Given the description of an element on the screen output the (x, y) to click on. 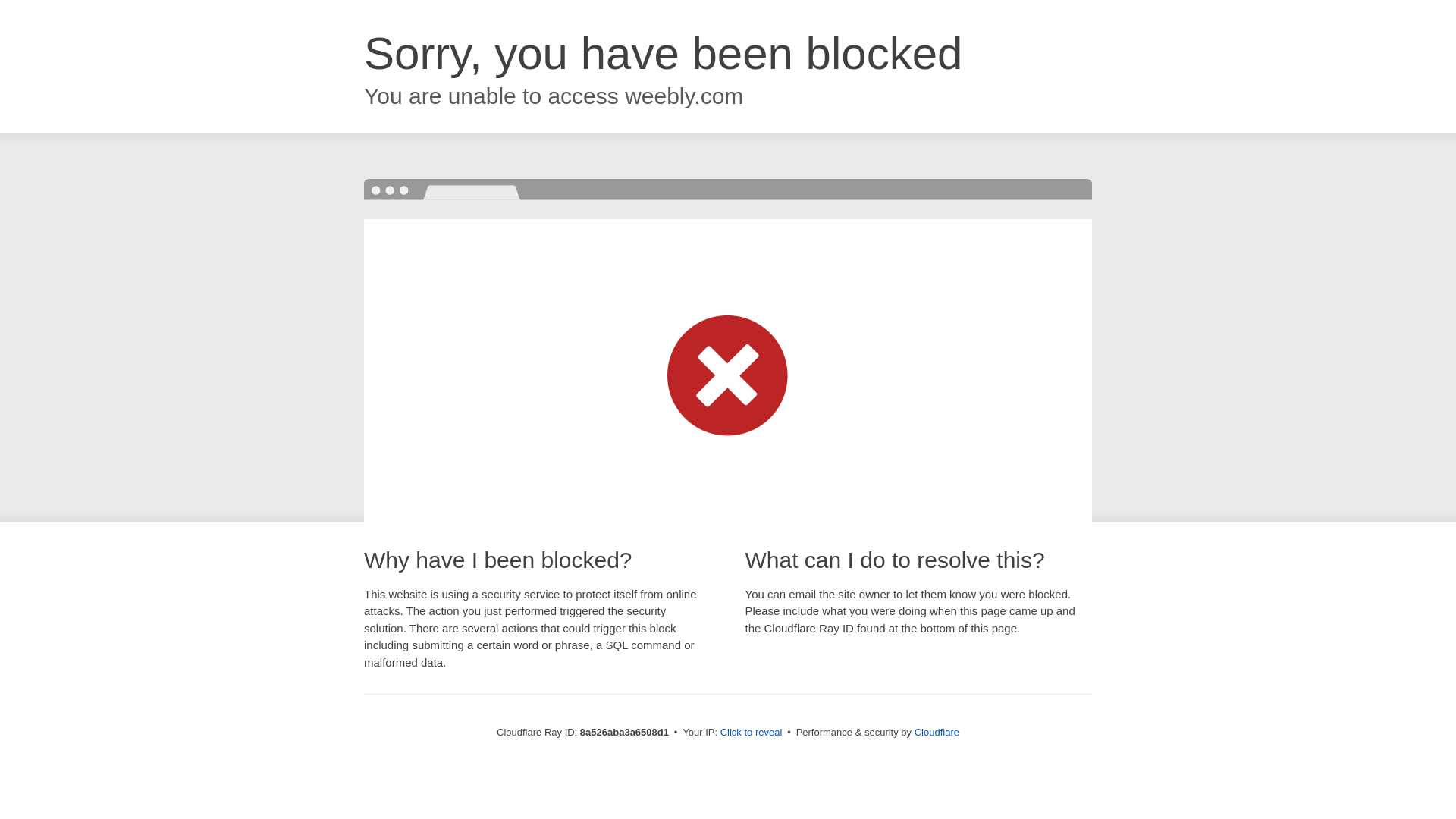
Click to reveal (751, 732)
Cloudflare (936, 731)
